Given the description of an element on the screen output the (x, y) to click on. 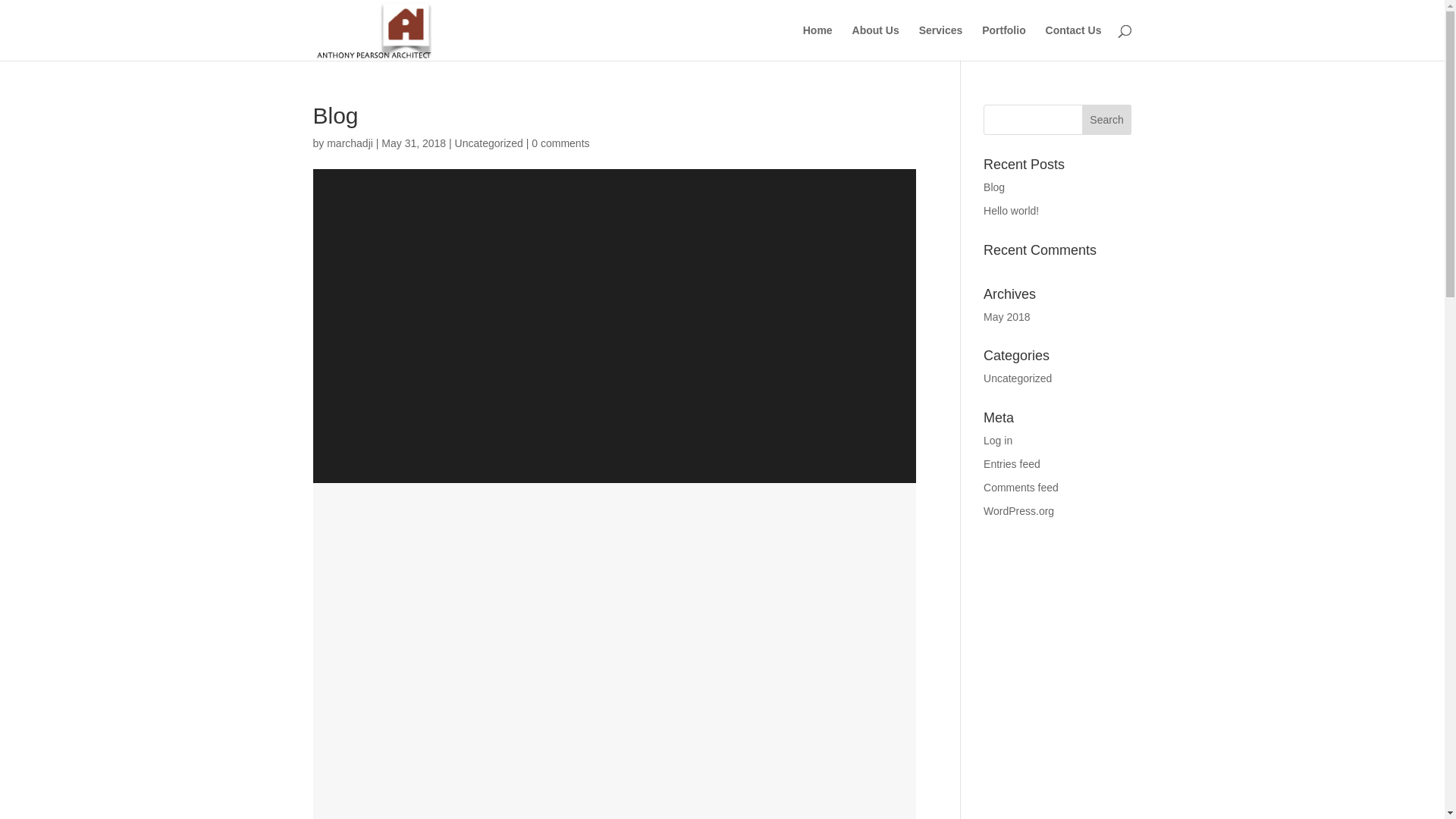
0 comments Element type: text (560, 143)
Contact Us Element type: text (1073, 42)
Portfolio Element type: text (1004, 42)
About Us Element type: text (875, 42)
Uncategorized Element type: text (1017, 378)
Log in Element type: text (997, 440)
Uncategorized Element type: text (489, 143)
Entries feed Element type: text (1011, 464)
marchadji Element type: text (349, 143)
Comments feed Element type: text (1020, 487)
May 2018 Element type: text (1006, 316)
Home Element type: text (817, 42)
WordPress.org Element type: text (1018, 511)
Search Element type: text (1107, 119)
Blog Element type: text (993, 187)
Services Element type: text (941, 42)
Hello world! Element type: text (1010, 210)
